Given the description of an element on the screen output the (x, y) to click on. 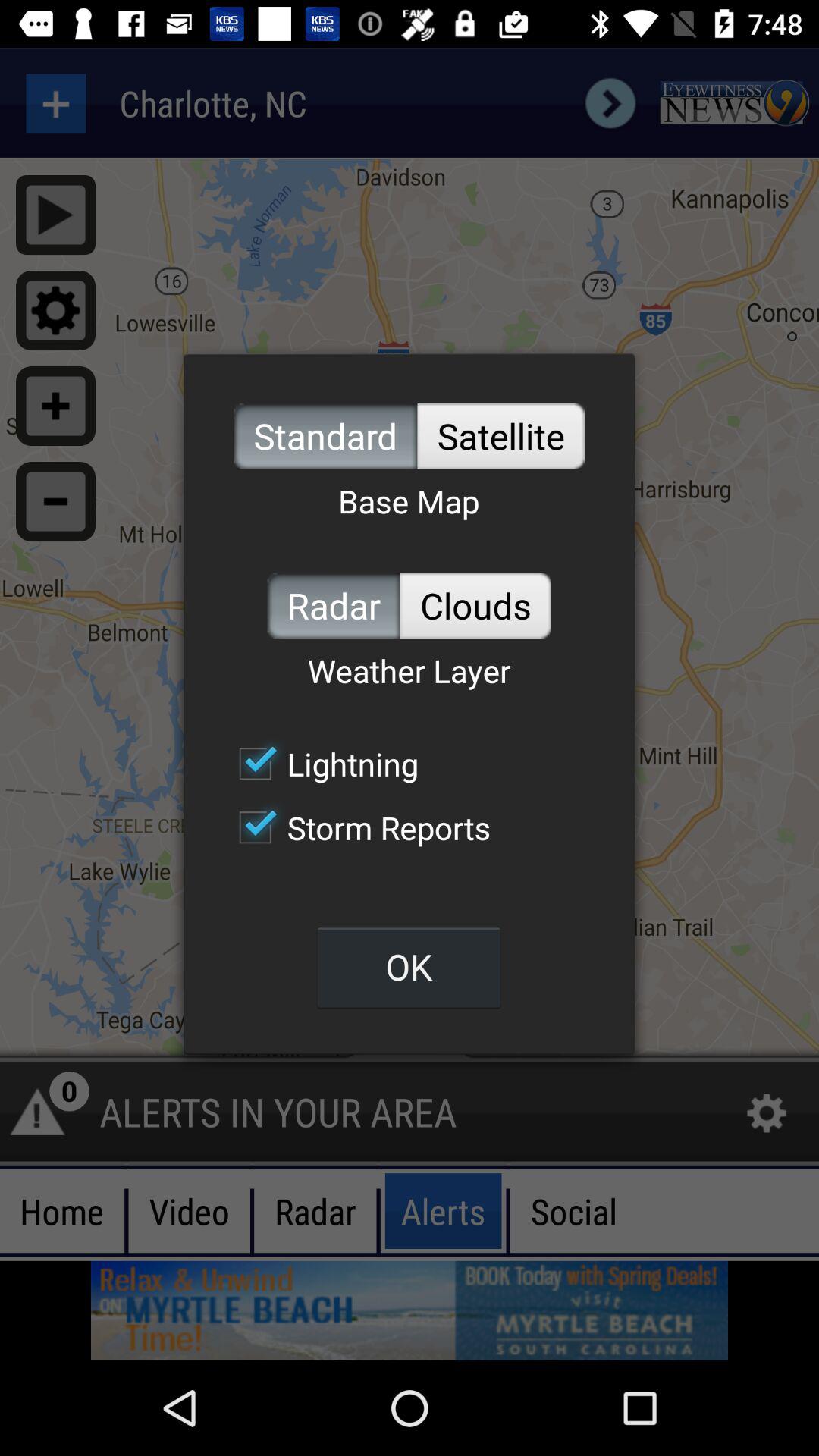
choose item to the left of clouds (333, 605)
